Given the description of an element on the screen output the (x, y) to click on. 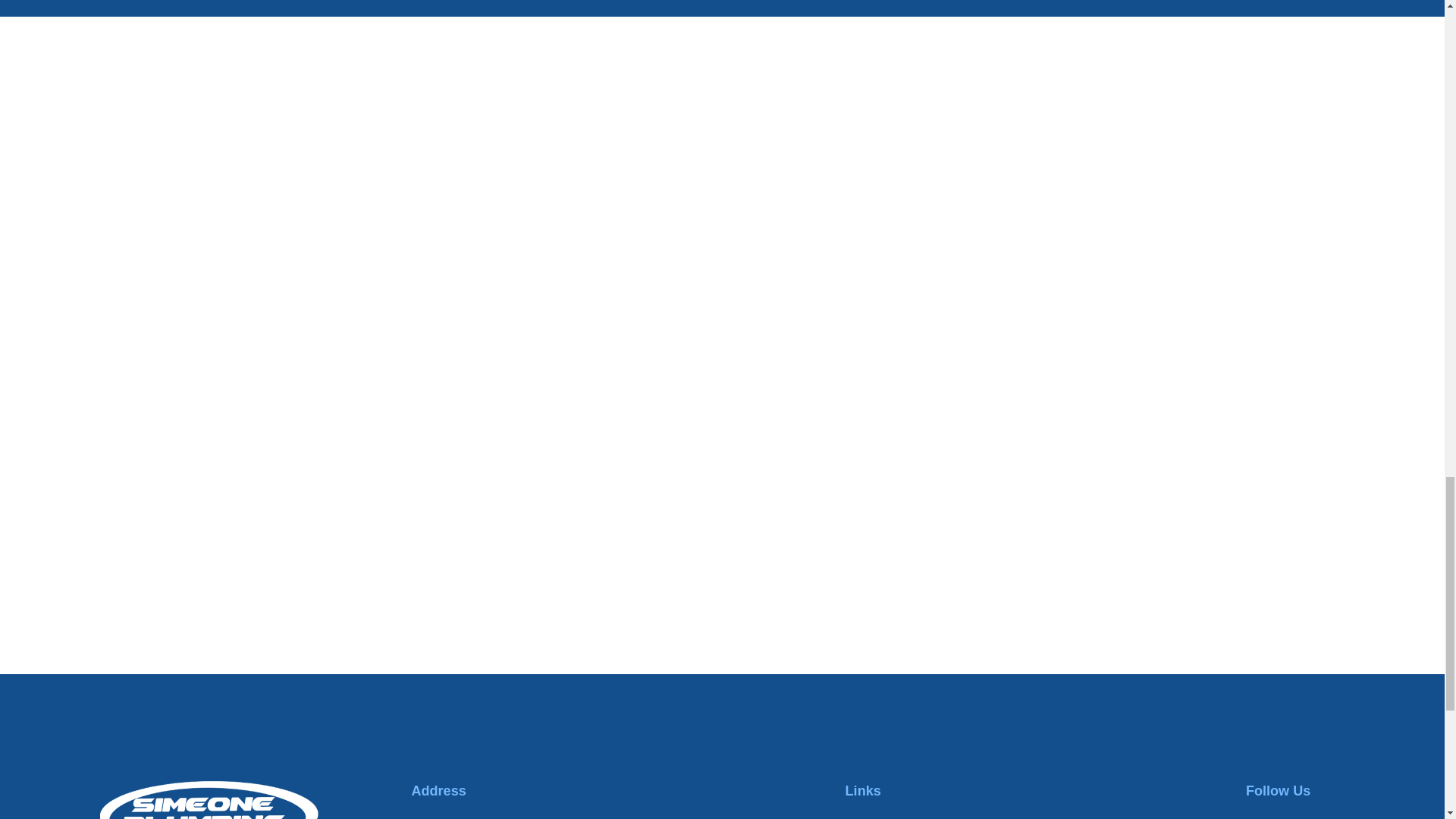
Home (209, 800)
Facebook (1255, 816)
Google Business Profile (1333, 816)
Yelp (1294, 816)
